Given the description of an element on the screen output the (x, y) to click on. 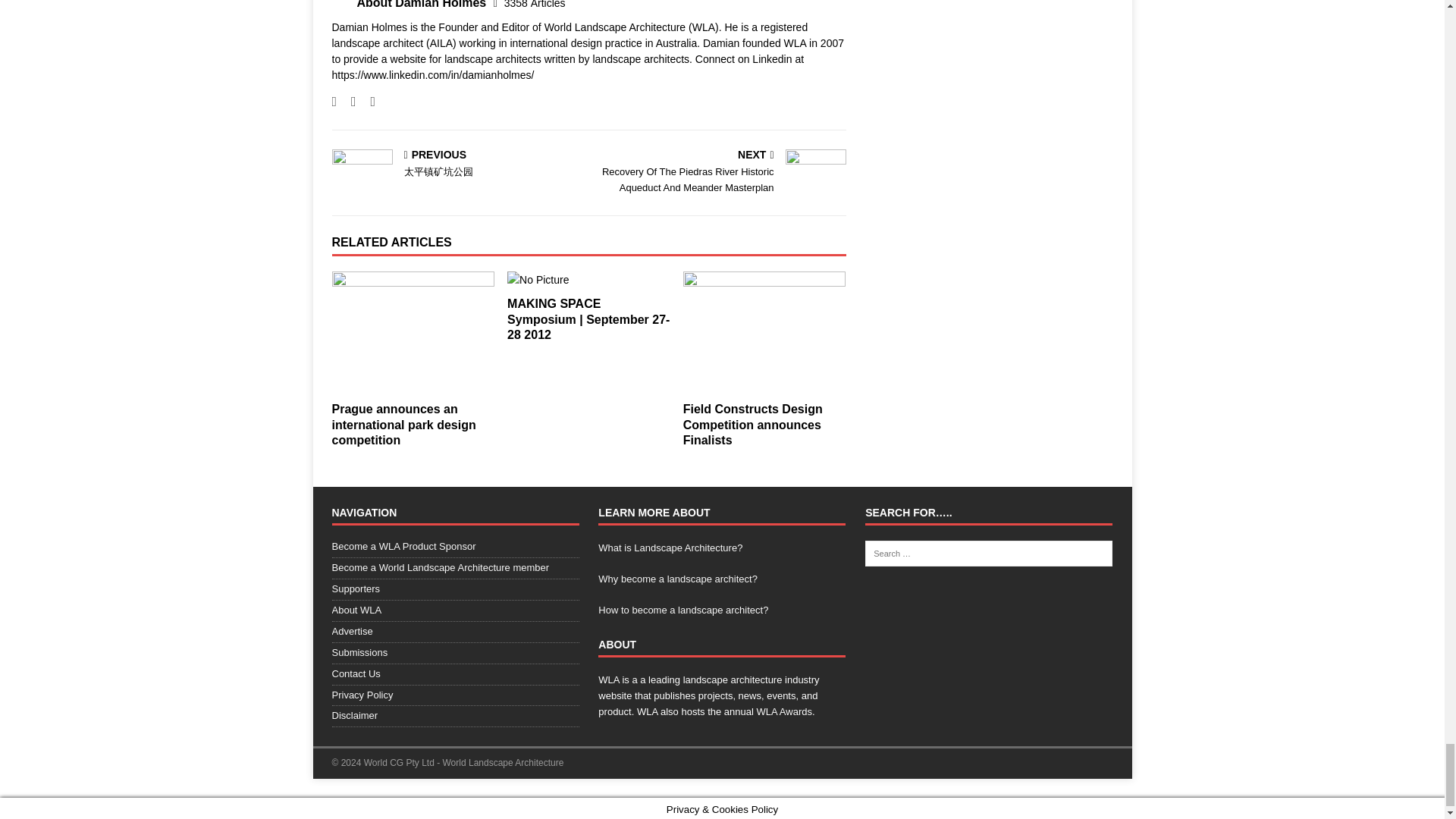
Follow Damian Holmes on LinkedIn (366, 101)
Prague announces an international park design competition (413, 332)
Follow Damian Holmes on Twitter (347, 101)
More articles written by Damian Holmes' (534, 4)
